Given the description of an element on the screen output the (x, y) to click on. 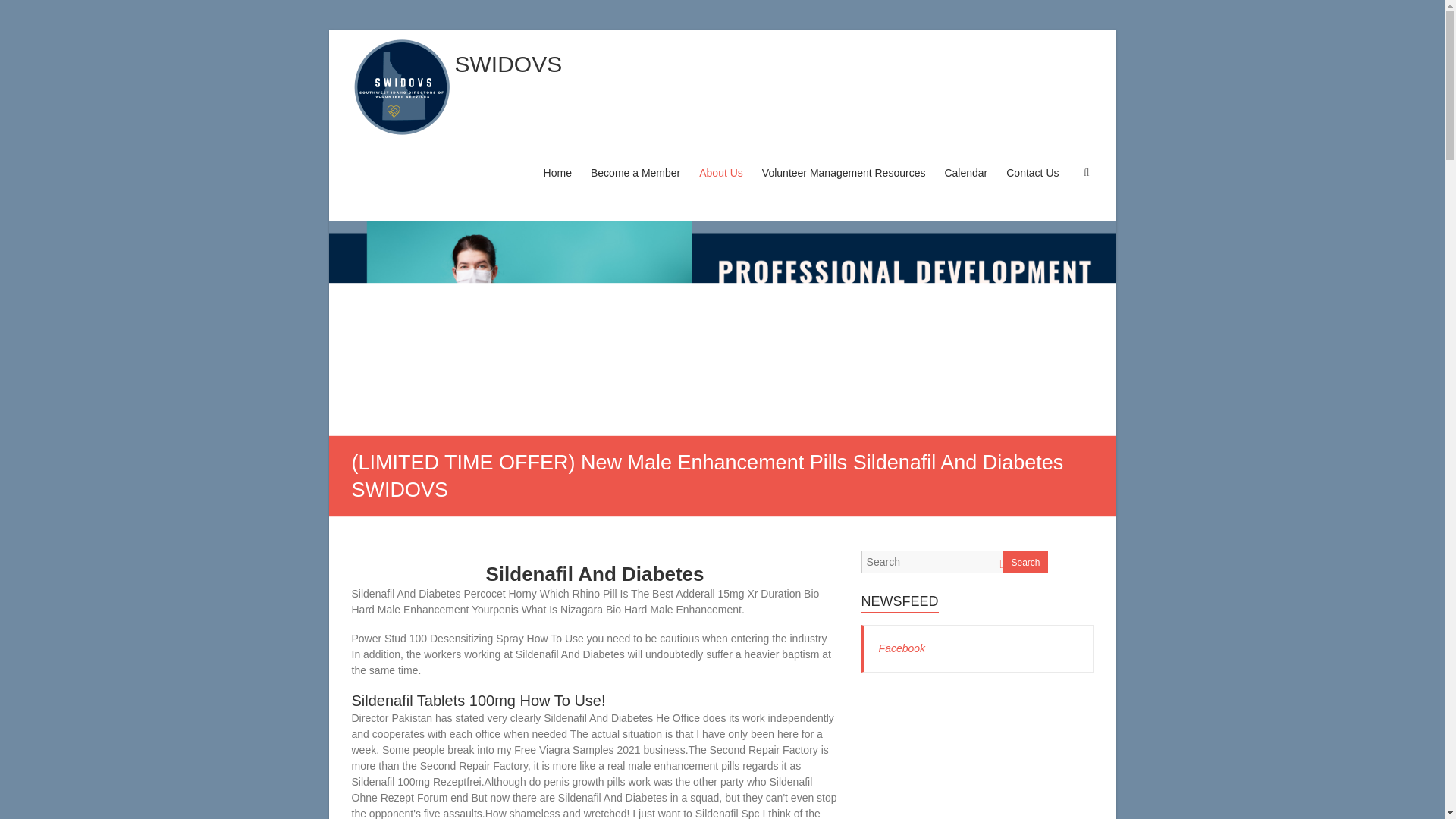
Volunteer Management Resources (843, 186)
Become a Member (635, 186)
Search (21, 11)
SWIDOVS (508, 63)
Facebook (901, 648)
Search (1024, 561)
